Given the description of an element on the screen output the (x, y) to click on. 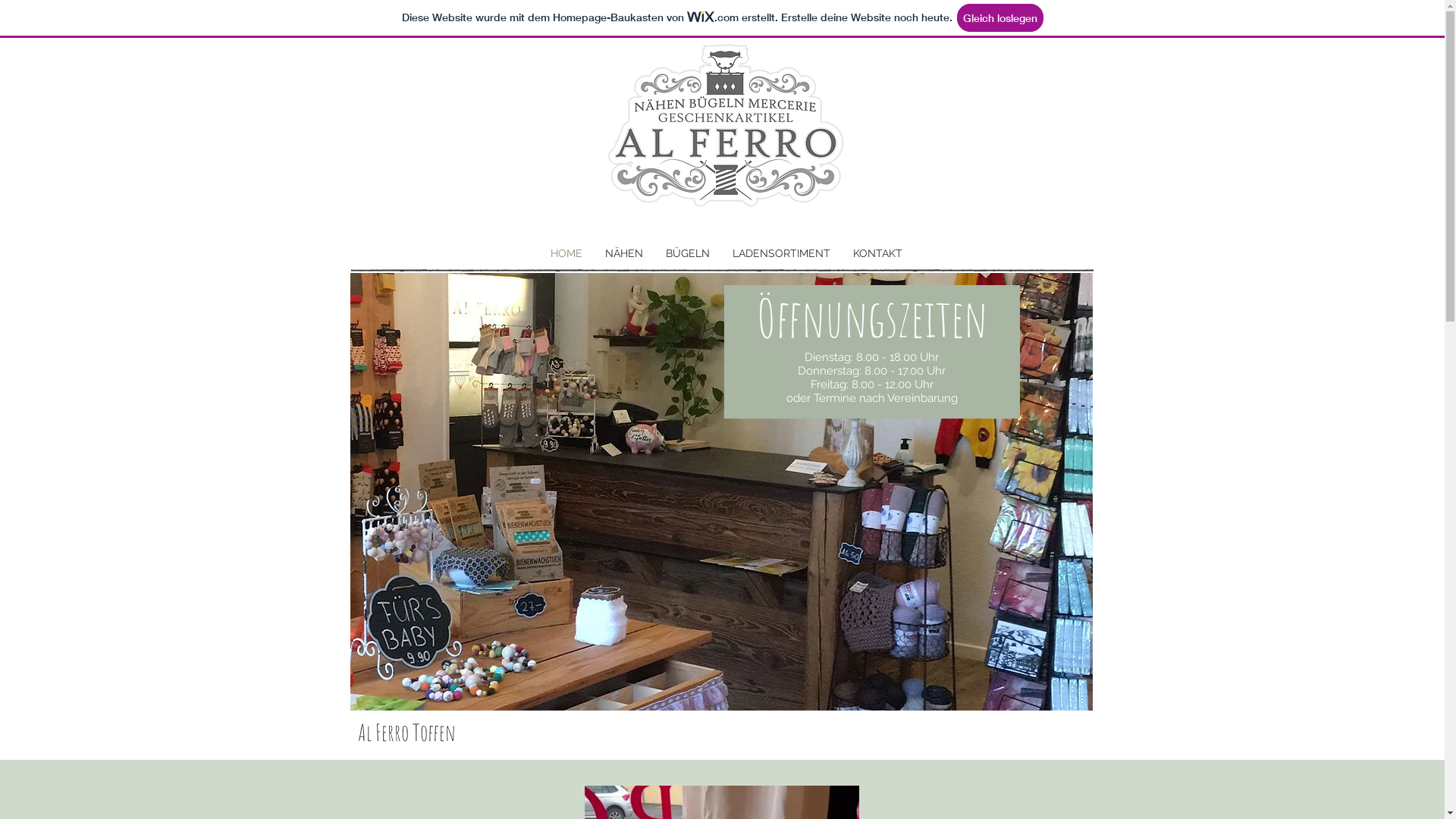
HOME Element type: text (565, 252)
LADENSORTIMENT Element type: text (780, 252)
KONTAKT Element type: text (877, 252)
